Given the description of an element on the screen output the (x, y) to click on. 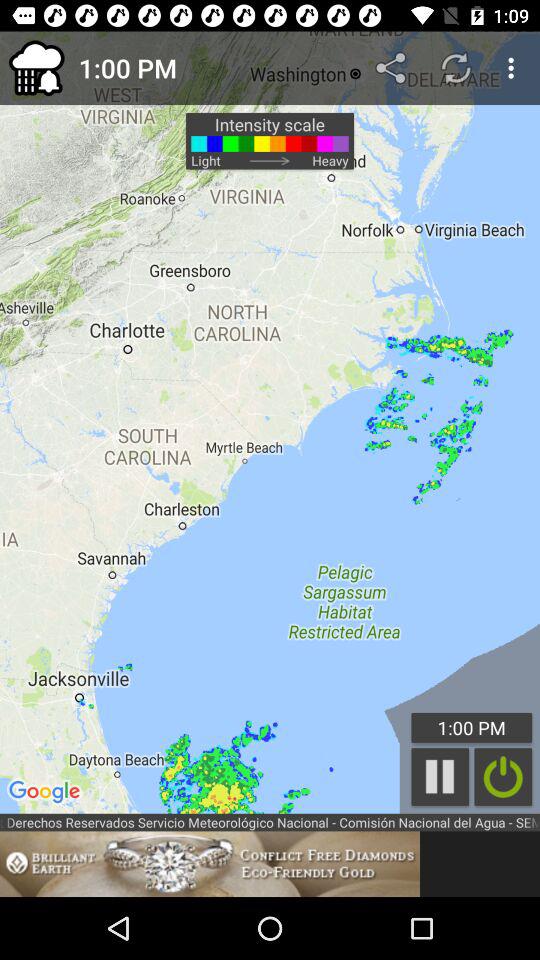
choose the item next to the 1:00 pm (36, 68)
